Given the description of an element on the screen output the (x, y) to click on. 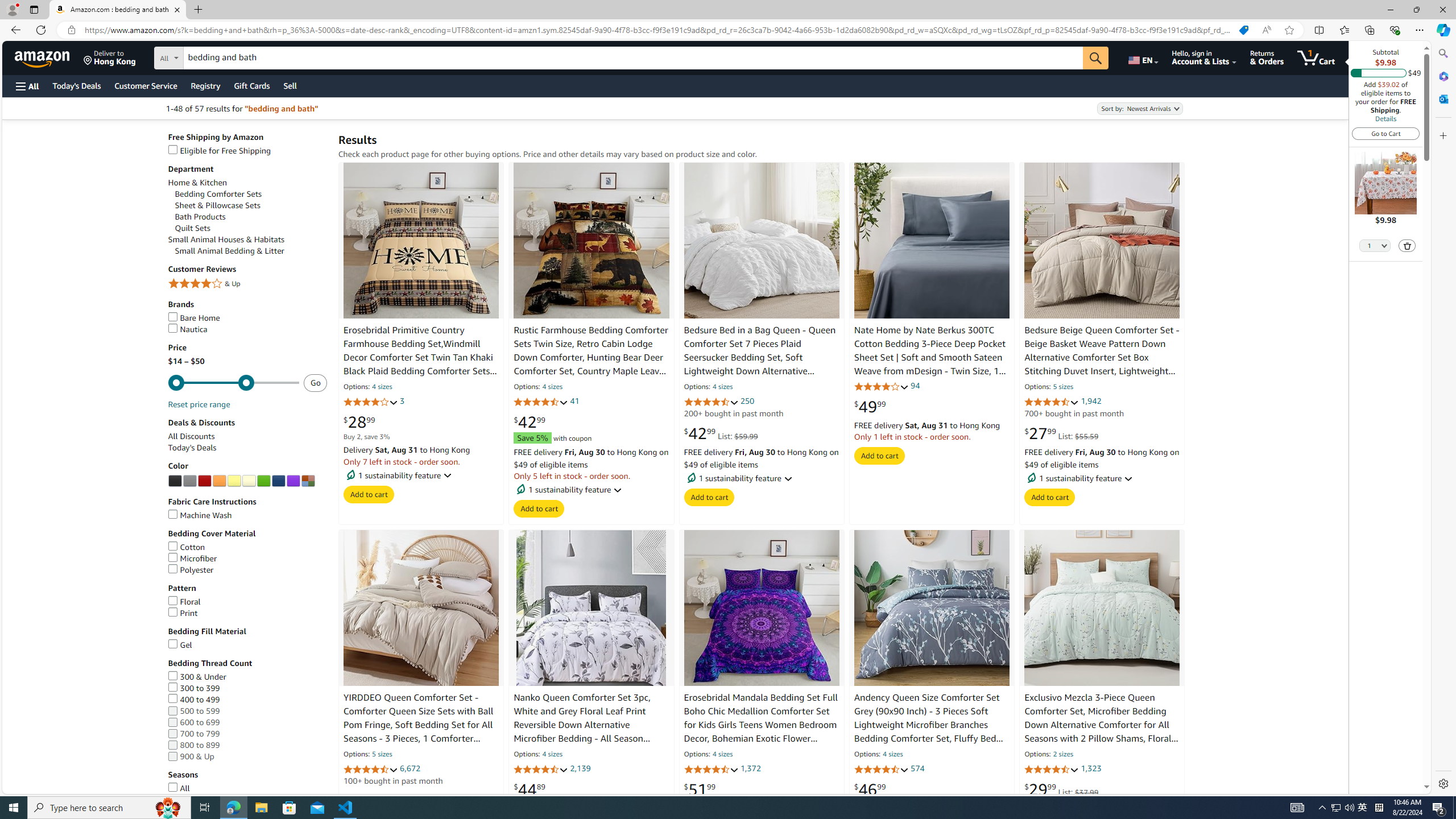
3.8 out of 5 stars (370, 402)
Quilt Sets (250, 228)
4.6 out of 5 stars (711, 769)
Sort by: (1139, 108)
AutomationID: p_n_feature_twenty_browse-bin/3254106011 (234, 481)
AutomationID: p_n_feature_twenty_browse-bin/3254109011 (277, 481)
Details (1385, 118)
Skip to main content (48, 56)
Nautica (187, 328)
4 Stars & Up& Up (247, 284)
4 sizes (892, 754)
Yellow (234, 481)
